Given the description of an element on the screen output the (x, y) to click on. 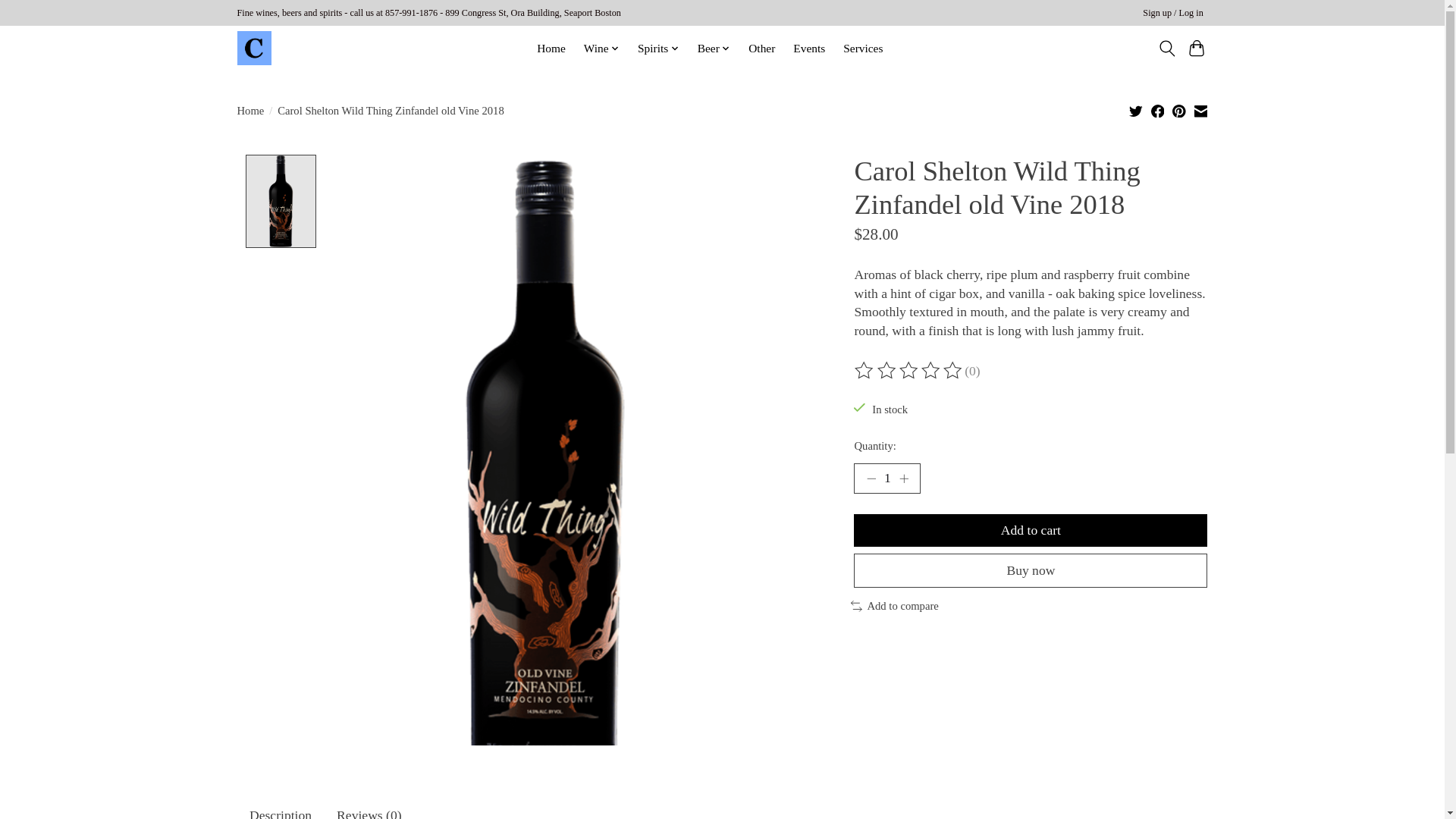
Other (761, 47)
Corossol Wines (252, 48)
Share on Pinterest (1178, 110)
Services (863, 47)
Events (808, 47)
Home (550, 47)
Share by Email (1200, 110)
Share on Facebook (1157, 110)
Wine (602, 47)
Beer (713, 47)
Share on Twitter (1135, 110)
My account (1173, 13)
1 (886, 478)
Spirits (657, 47)
